Given the description of an element on the screen output the (x, y) to click on. 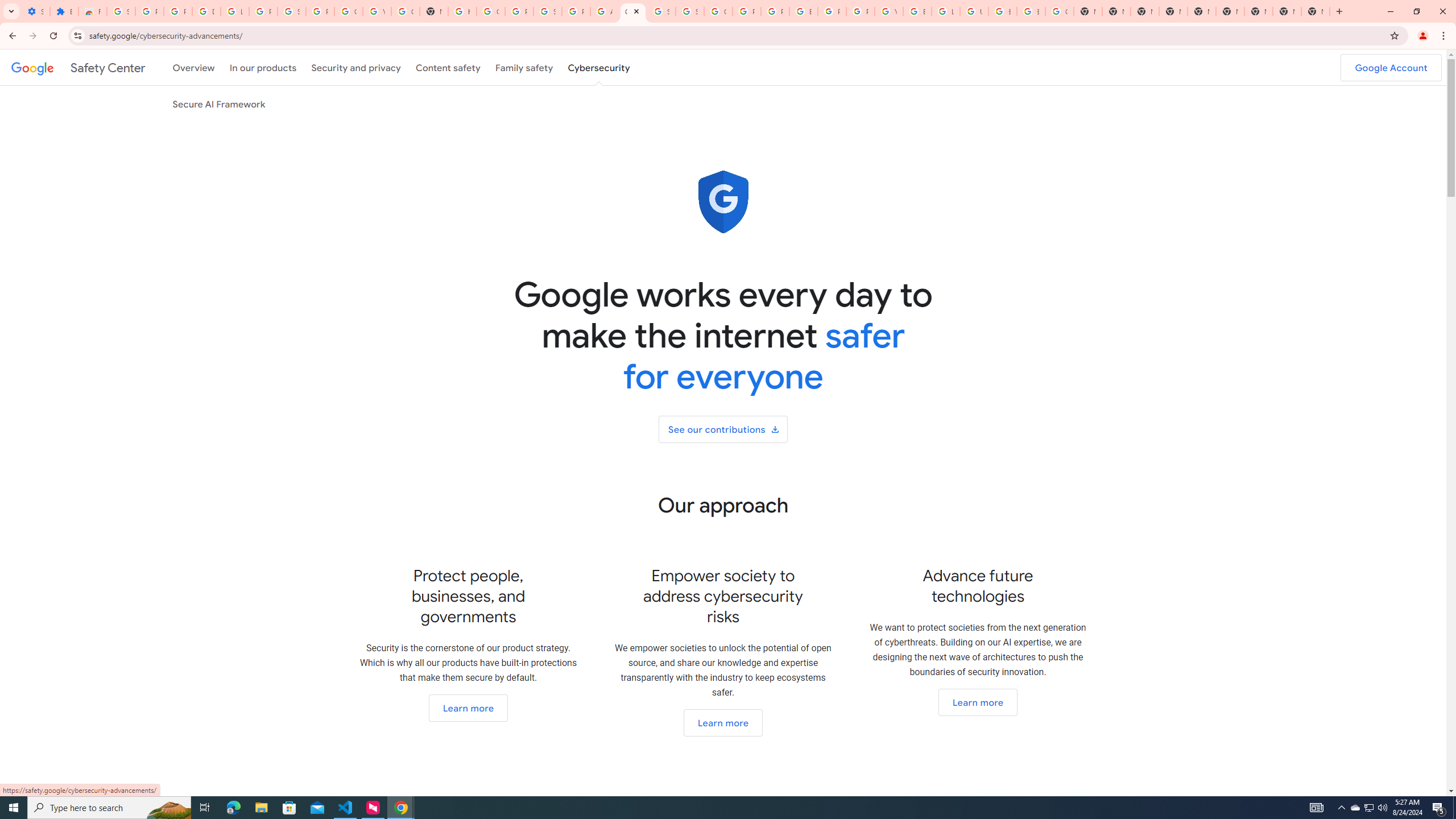
Reviews: Helix Fruit Jump Arcade Game (92, 11)
Learn how to find your photos - Google Photos Help (234, 11)
Sign in - Google Accounts (690, 11)
Family safety (523, 67)
Sign in - Google Accounts (291, 11)
Cybersecurity (598, 67)
